Given the description of an element on the screen output the (x, y) to click on. 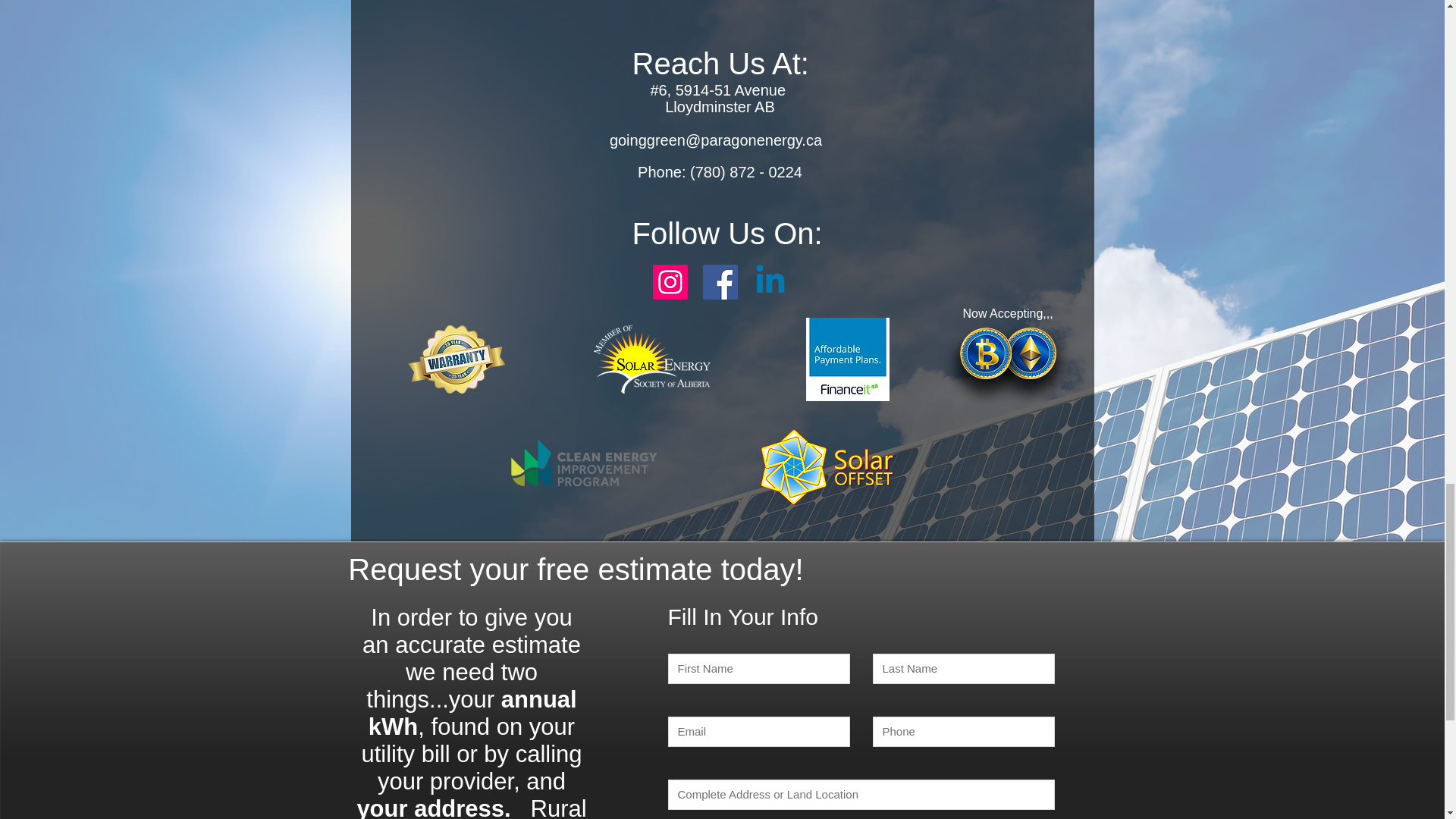
Solar Energy Returns (828, 466)
Solar Panel Warranty (455, 359)
CEIP Certified Installer (582, 464)
Ethereum and Bitcoin.png (1008, 363)
Solar Energy Company Alberta (651, 359)
Financing Solar  (846, 359)
